Given the description of an element on the screen output the (x, y) to click on. 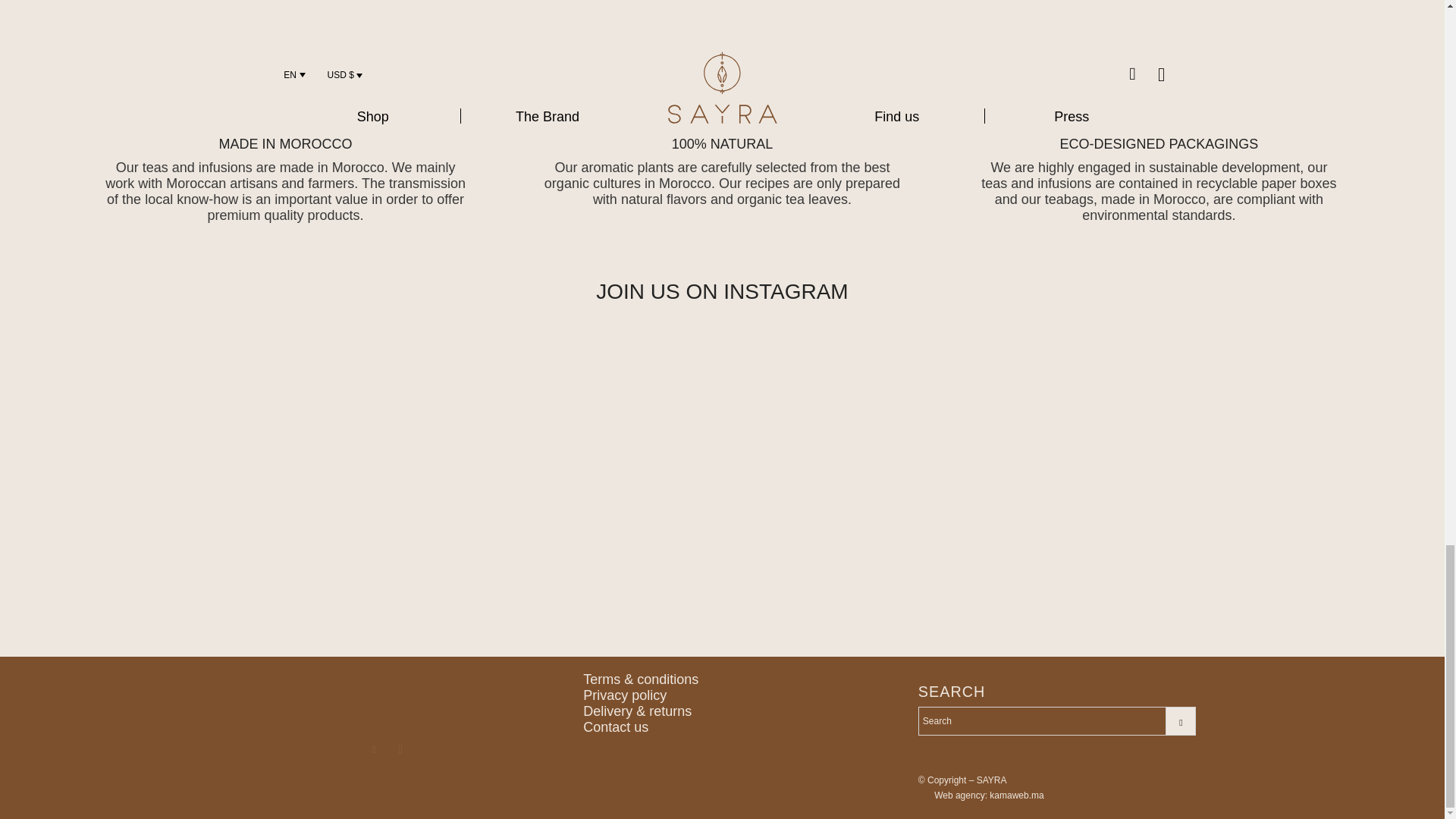
sayra-logo-white (386, 696)
